Given the description of an element on the screen output the (x, y) to click on. 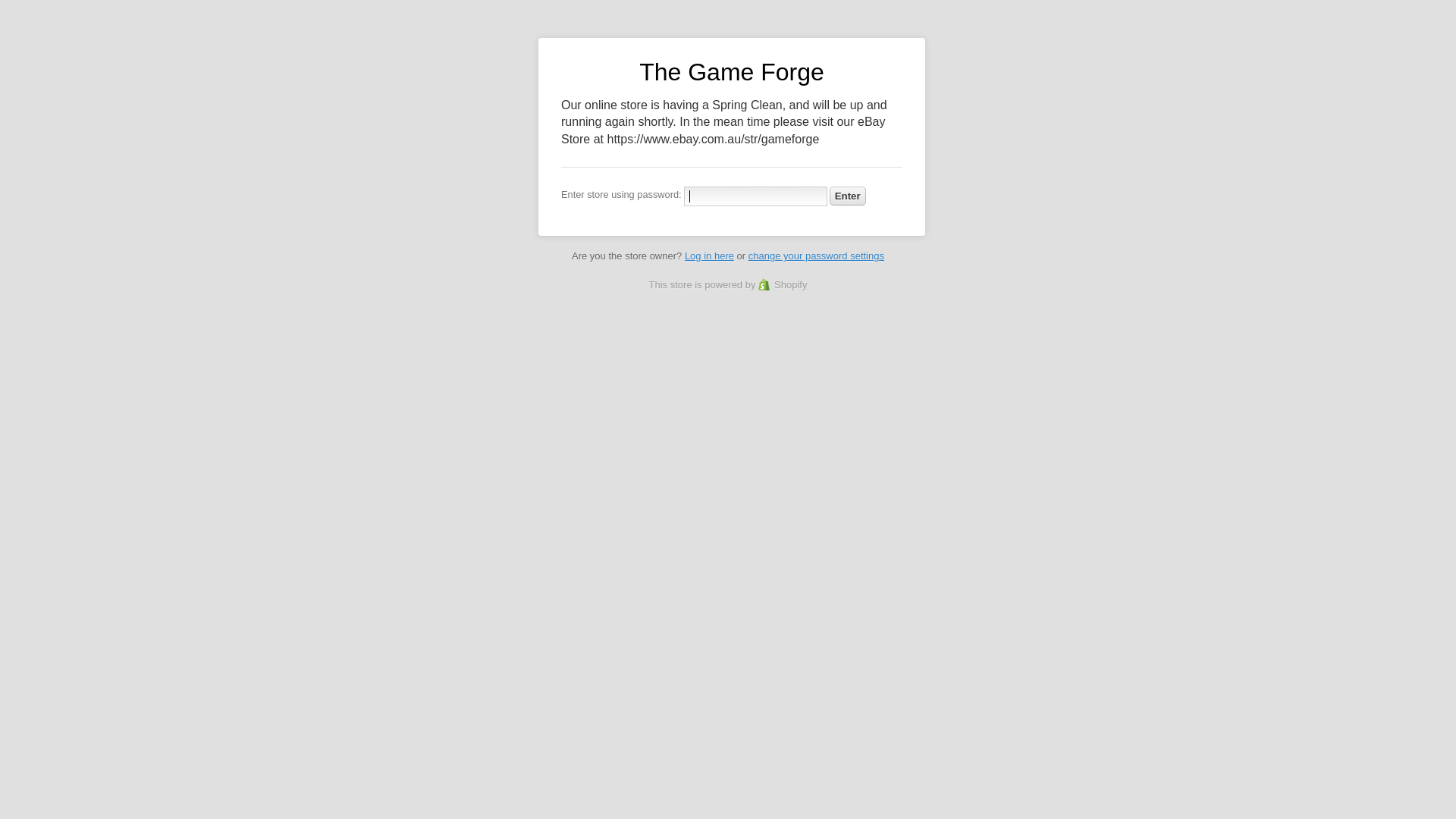
Enter Element type: text (847, 195)
Shopify Element type: text (782, 284)
Log in here Element type: text (709, 255)
change your password settings Element type: text (816, 255)
